Given the description of an element on the screen output the (x, y) to click on. 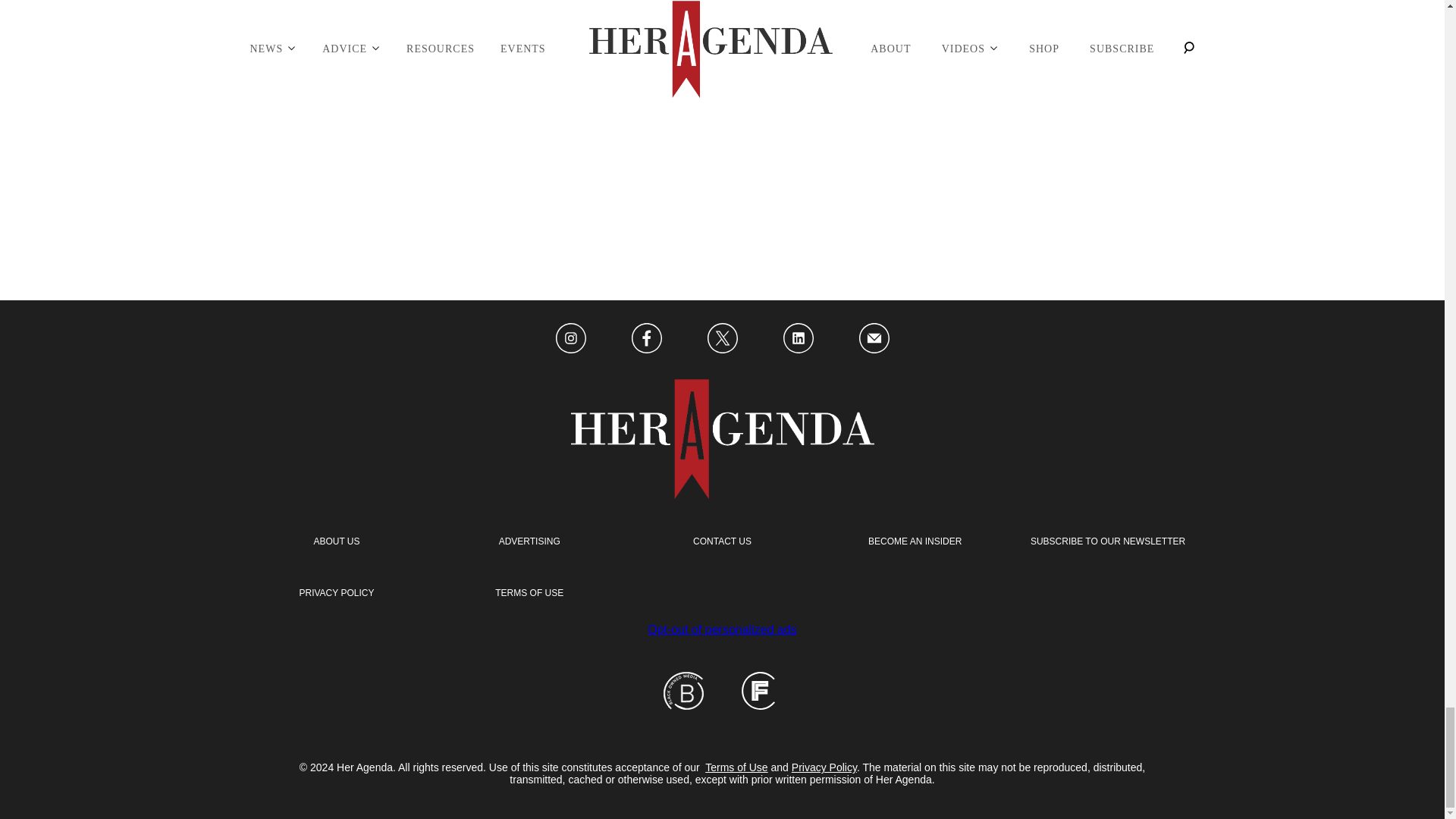
About Us (336, 541)
Link to Email (873, 339)
Become an Insider (913, 541)
Link to LinkedIn (797, 339)
Link to Facebook (645, 339)
Newsletter signup (336, 593)
Link to Instagram (569, 339)
Link to X (721, 339)
Advertising (529, 541)
Contact Us (722, 541)
Newsletter signup (1107, 541)
